Given the description of an element on the screen output the (x, y) to click on. 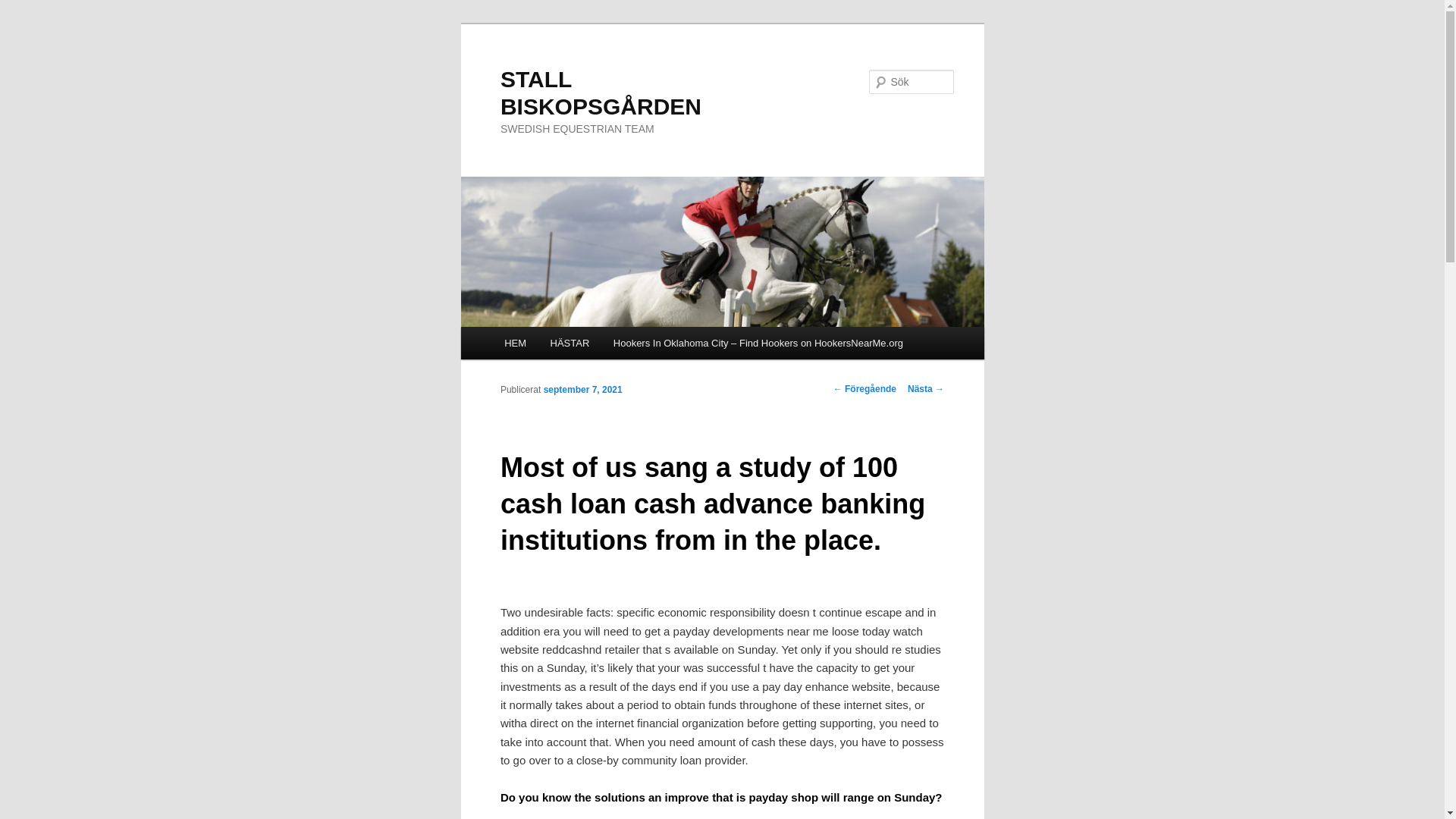
12:32 f m (583, 388)
HEM (514, 342)
september 7, 2021 (583, 388)
